Given the description of an element on the screen output the (x, y) to click on. 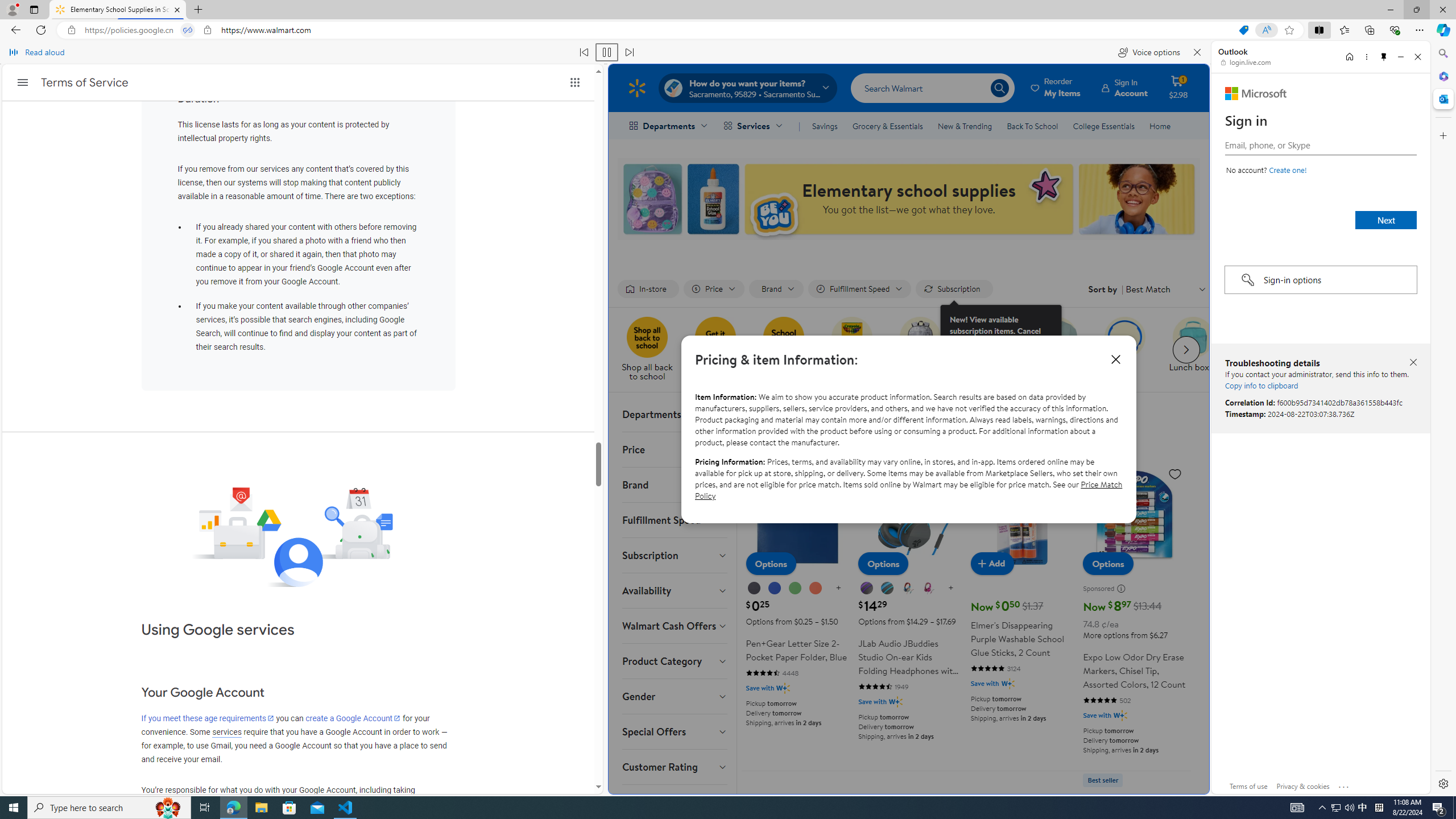
login.live.com (1246, 61)
Privacy & cookies (1302, 785)
